Given the description of an element on the screen output the (x, y) to click on. 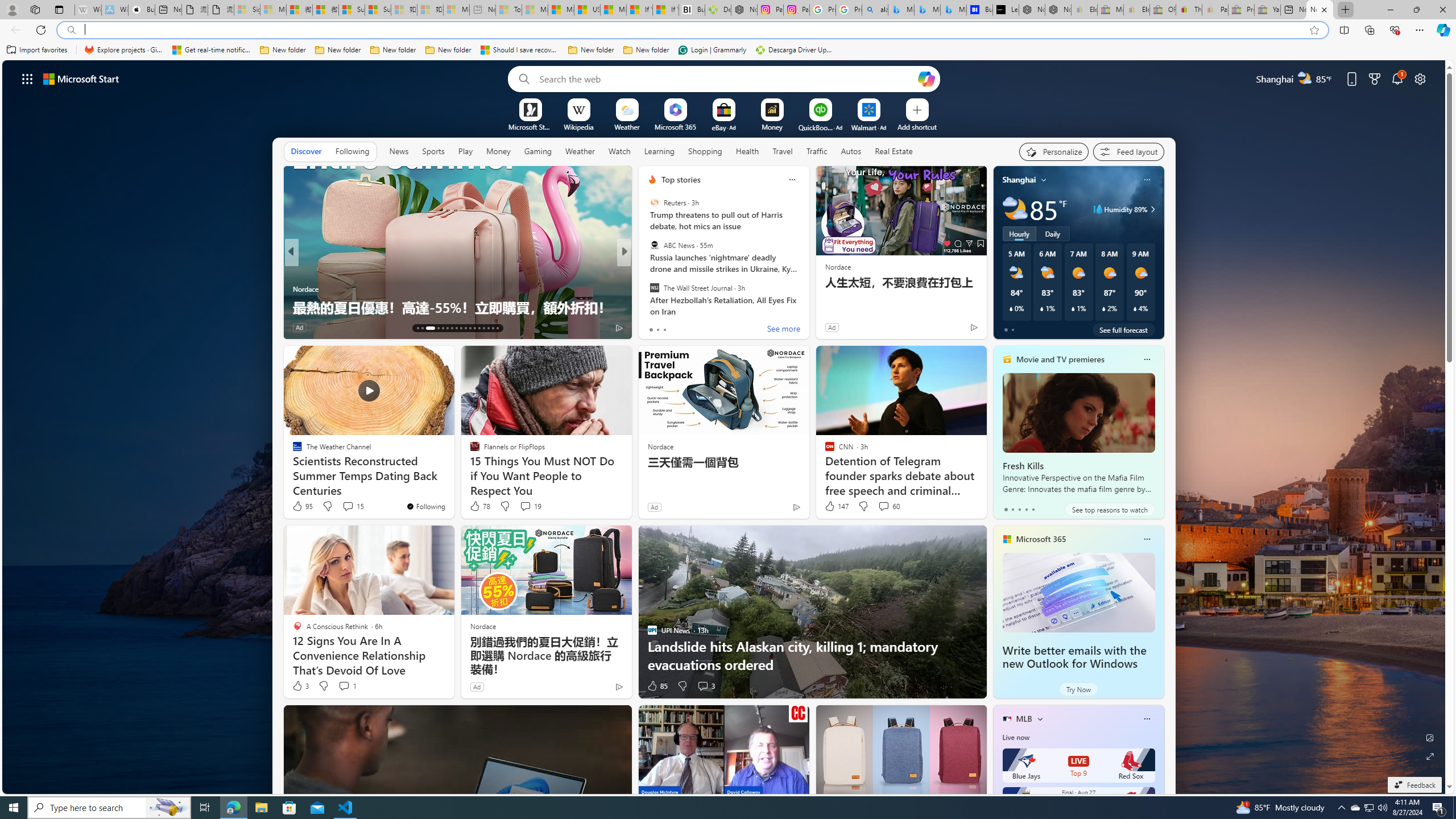
See full forecast (1123, 329)
Class: icon-img (1146, 718)
Autos (851, 151)
147 Like (835, 505)
Enter your search term (726, 78)
AutomationID: tab-26 (483, 328)
AutomationID: tab-13 (417, 328)
How Much Caffeine (And Alcohol) Is Actually In Your Kombucha (807, 298)
AutomationID: tab-20 (456, 328)
